Given the description of an element on the screen output the (x, y) to click on. 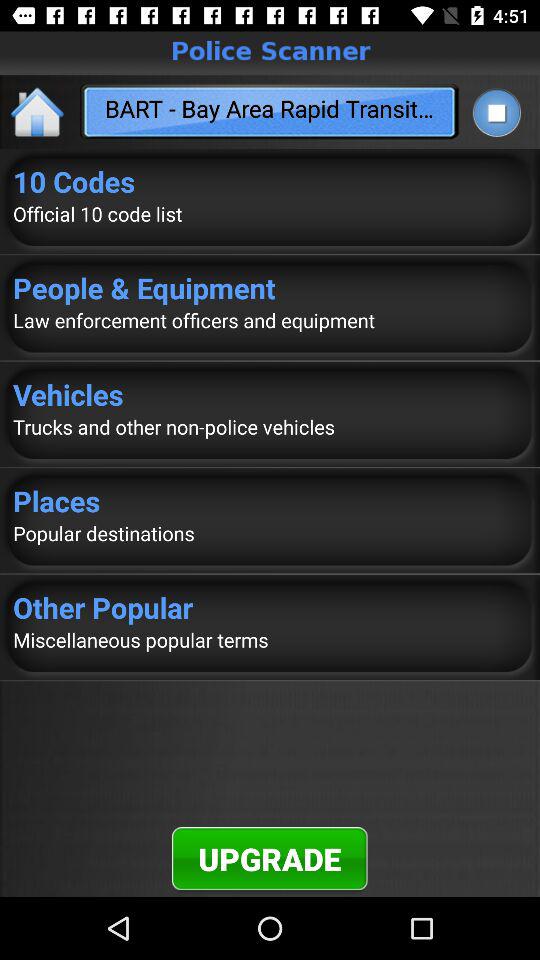
stop current player (496, 111)
